Given the description of an element on the screen output the (x, y) to click on. 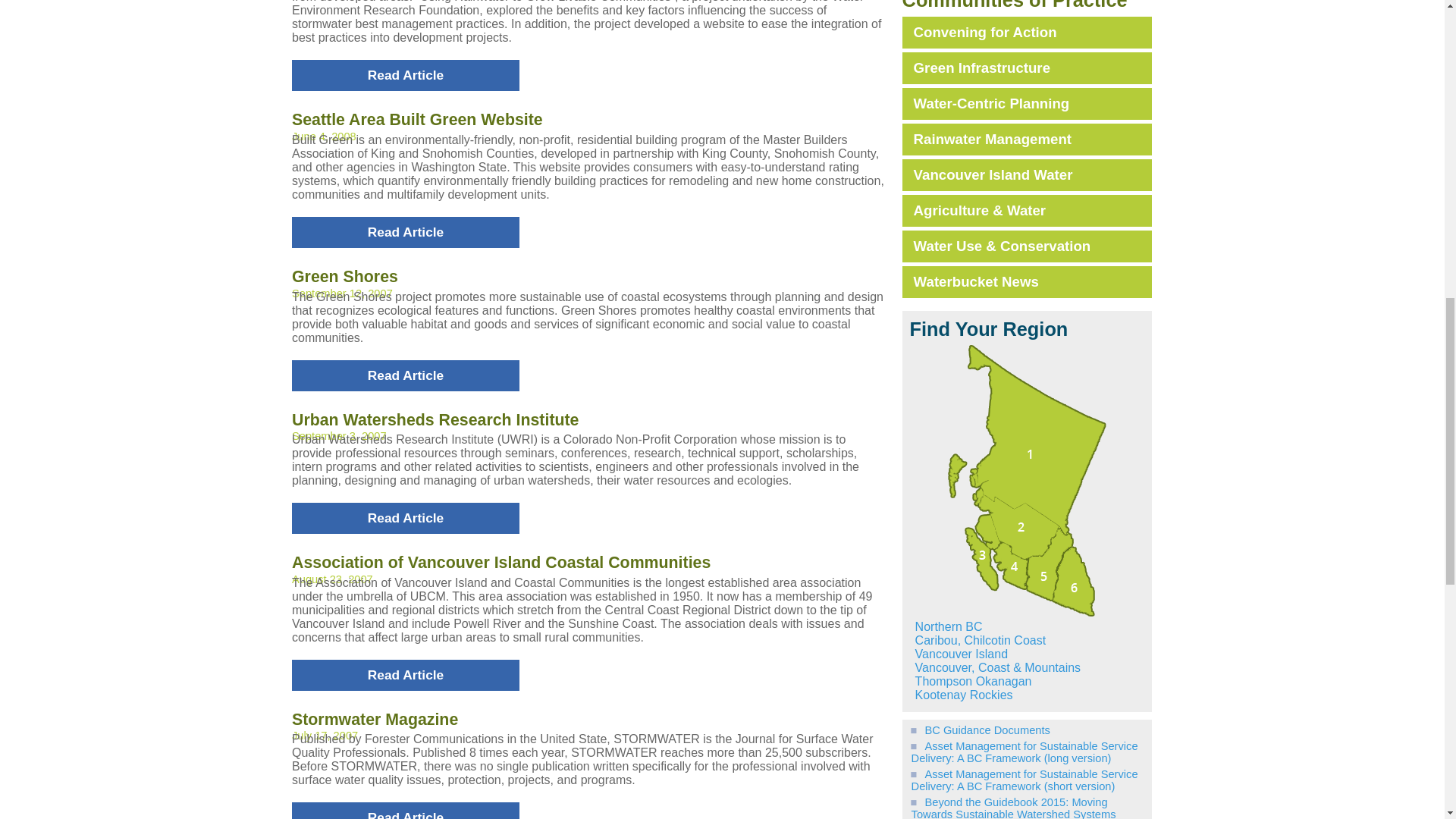
Read Article (405, 810)
Permalink to Seattle Area Built Green Website (417, 119)
Read Article (405, 517)
Read Article (405, 675)
Urban Watersheds Research Institute (435, 420)
Read Article (405, 374)
Read Article (405, 232)
Permalink to Stormwater Magazine (375, 719)
Stormwater Magazine (375, 719)
Green Shores (344, 276)
Read Article (405, 74)
Permalink to Green Shores (344, 276)
Seattle Area Built Green Website (417, 119)
Permalink to Urban Watersheds Research  Institute (435, 420)
